Given the description of an element on the screen output the (x, y) to click on. 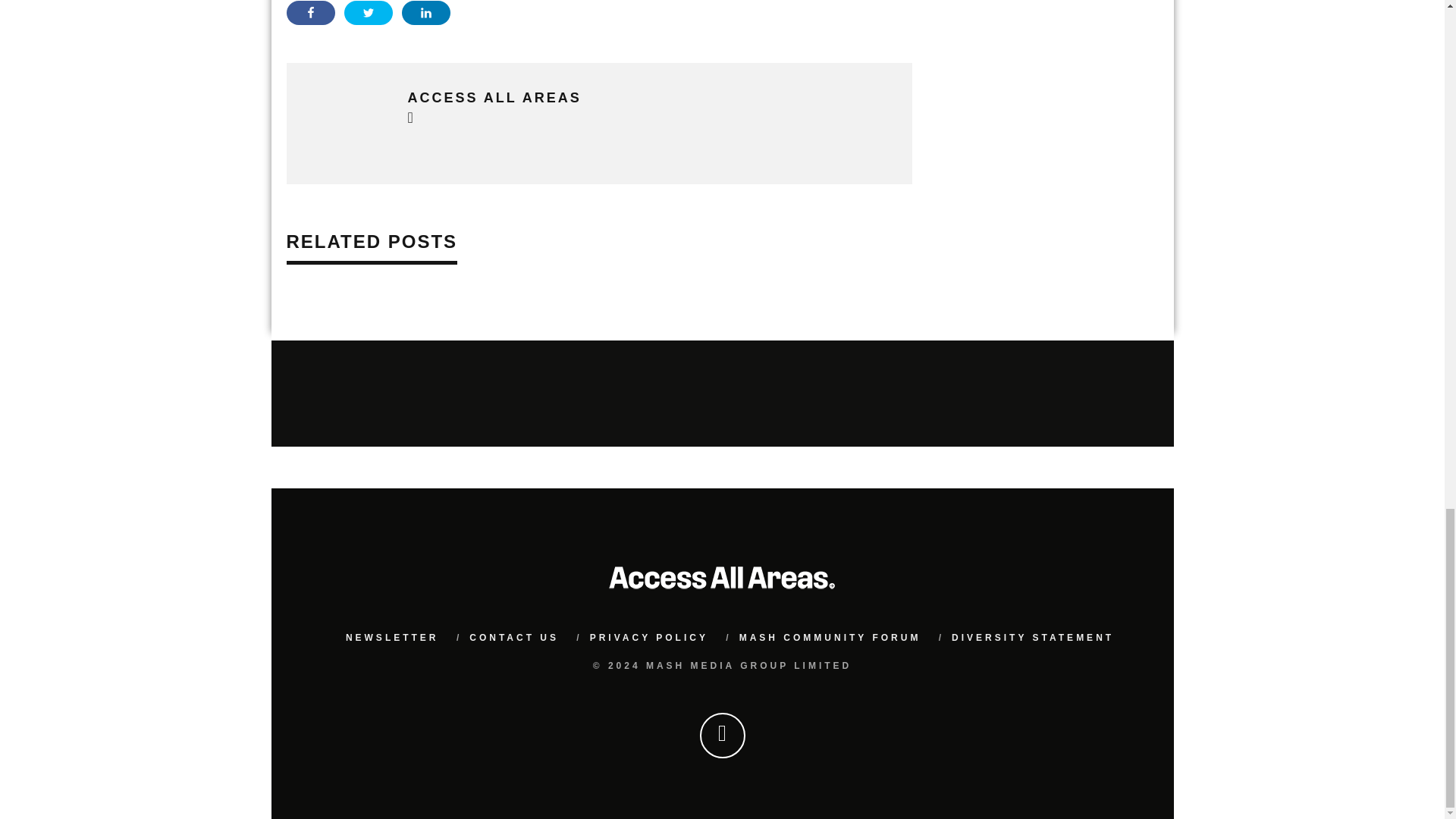
Share on Twitter (368, 12)
Share on LinkedIn (425, 12)
Share on Facebook (310, 12)
